Given the description of an element on the screen output the (x, y) to click on. 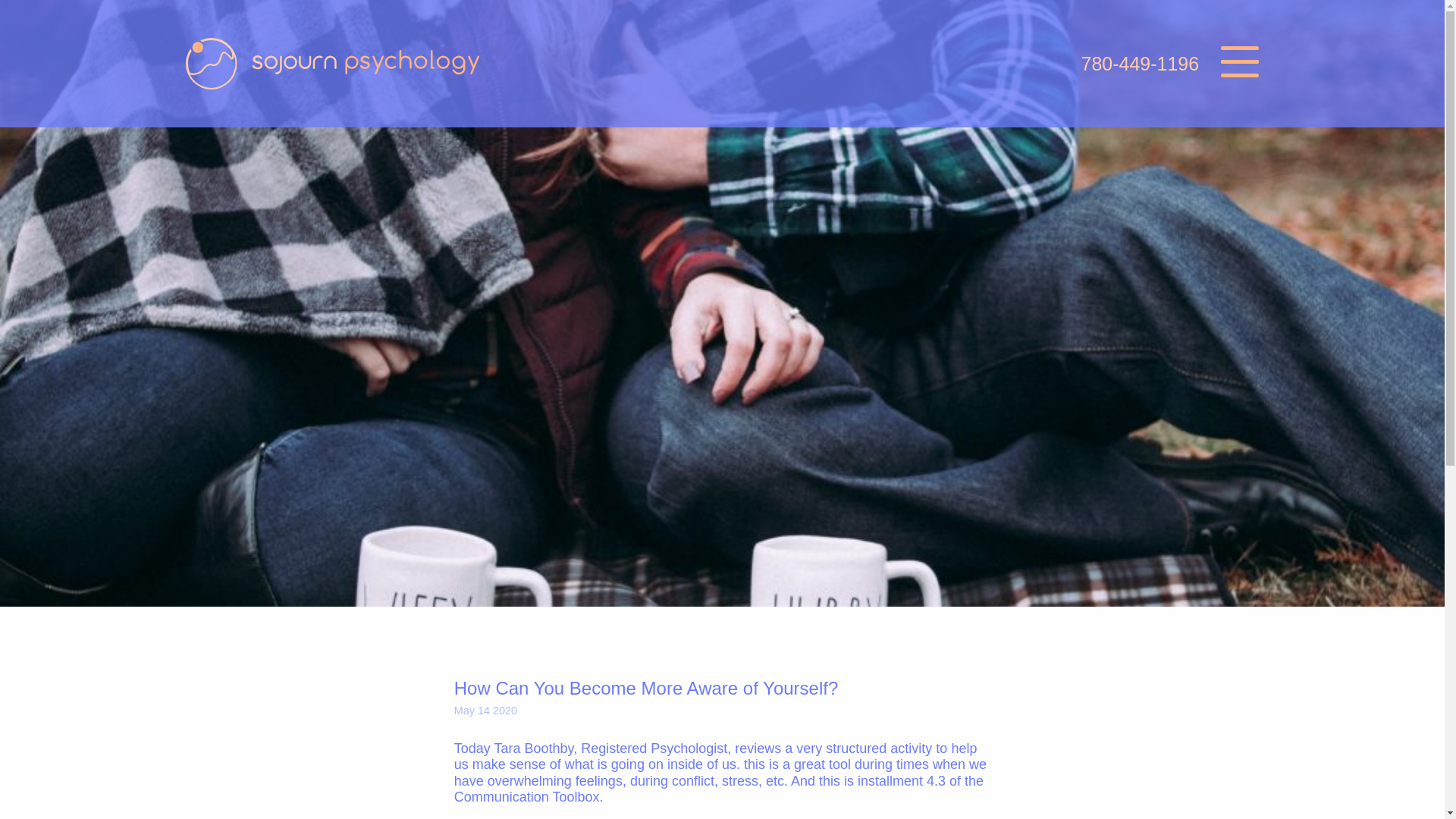
780-449-1196 (1139, 63)
